Given the description of an element on the screen output the (x, y) to click on. 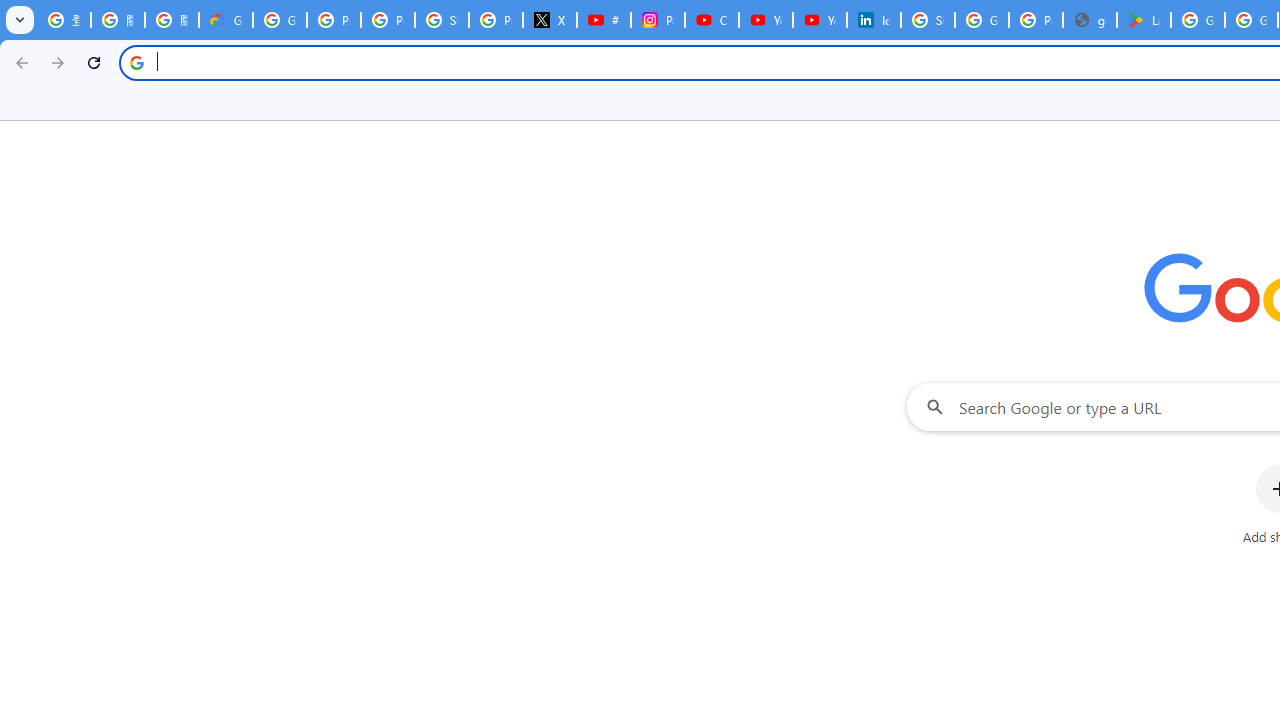
Google Cloud Privacy Notice (225, 20)
X (550, 20)
#nbabasketballhighlights - YouTube (604, 20)
Sign in - Google Accounts (441, 20)
Sign in - Google Accounts (927, 20)
